Given the description of an element on the screen output the (x, y) to click on. 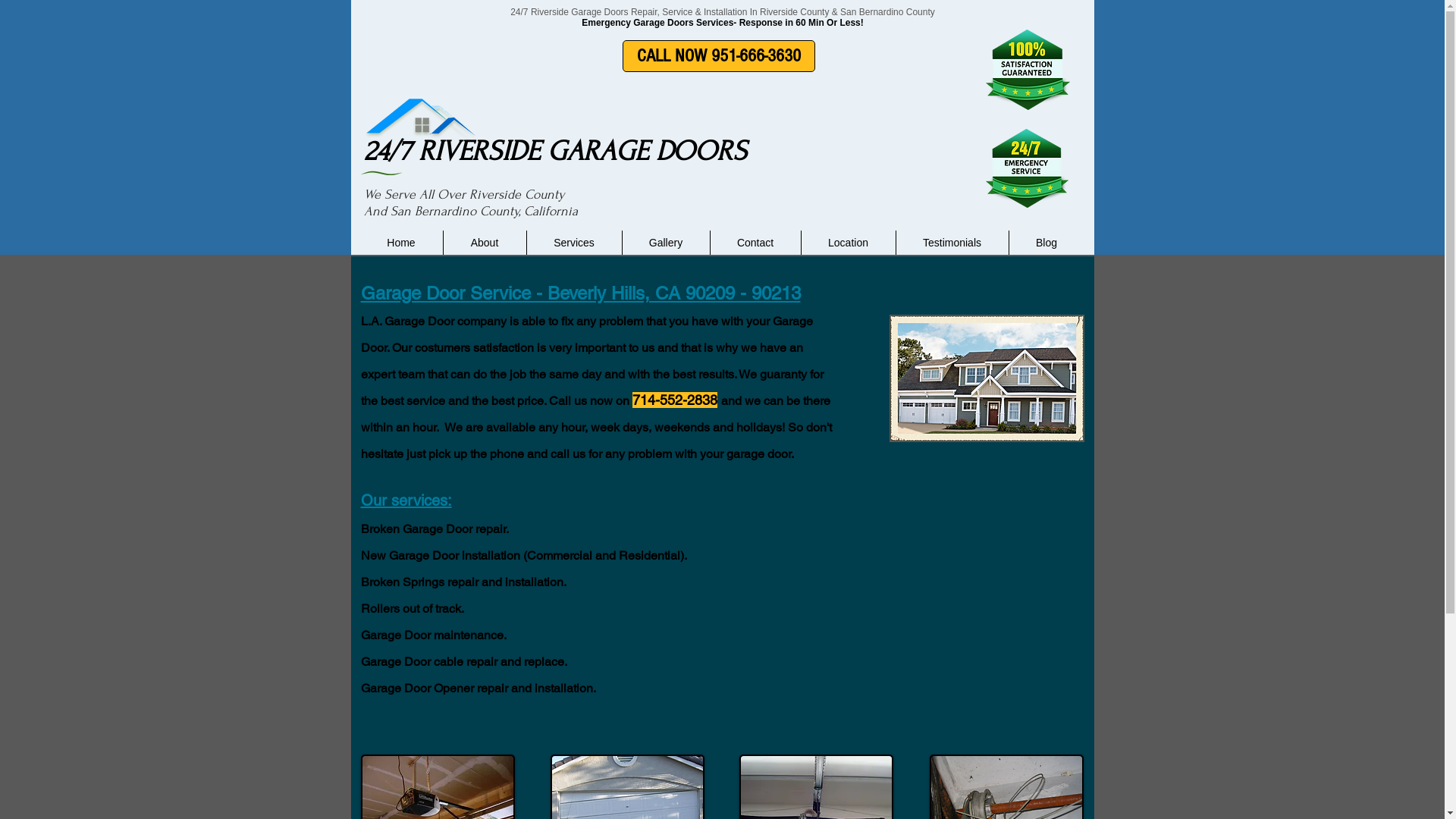
house-roof-png.png Element type: hover (421, 126)
Contact Element type: text (754, 242)
Our services: Element type: text (405, 500)
Gallery Element type: text (665, 242)
Blog Element type: text (1045, 242)
Location Element type: text (847, 242)
Services Element type: text (573, 242)
Testimonials Element type: text (952, 242)
CALL NOW 951-666-3630 Element type: text (717, 56)
About Element type: text (483, 242)
Home Element type: text (400, 242)
24/7 RIVERSIDE GARAGE DOORS Element type: text (555, 150)
